Given the description of an element on the screen output the (x, y) to click on. 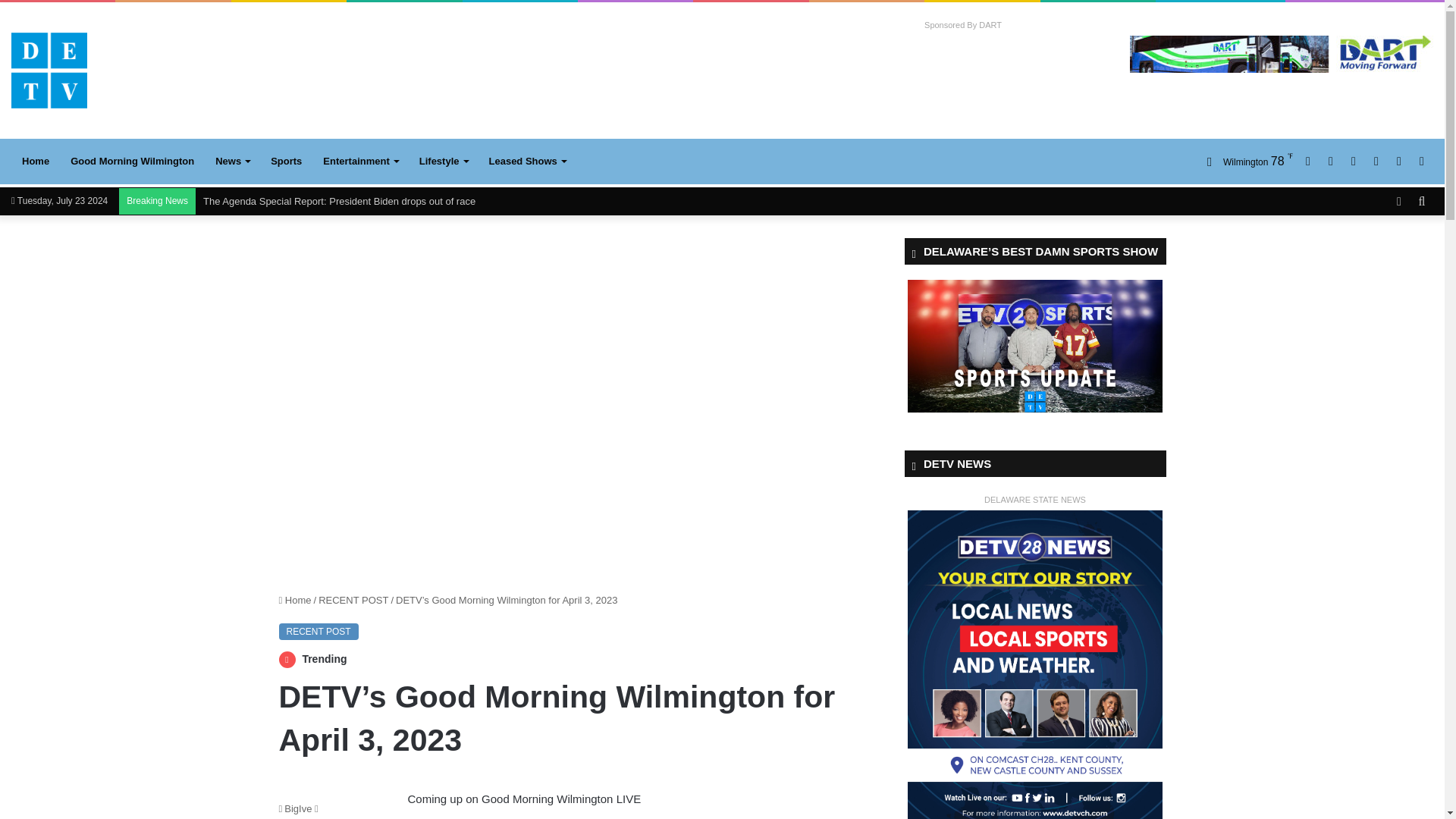
Sports (286, 161)
Clear Sky (1243, 160)
RECENT POST (353, 600)
Lifestyle (444, 161)
Good Morning Wilmington (132, 161)
News (232, 161)
BigIve (296, 808)
RECENT POST (318, 631)
Leased Shows (526, 161)
Home (35, 161)
DETVCH (49, 70)
Home (295, 600)
Sponsored By DART (962, 25)
Sponsored By DART (962, 25)
